Given the description of an element on the screen output the (x, y) to click on. 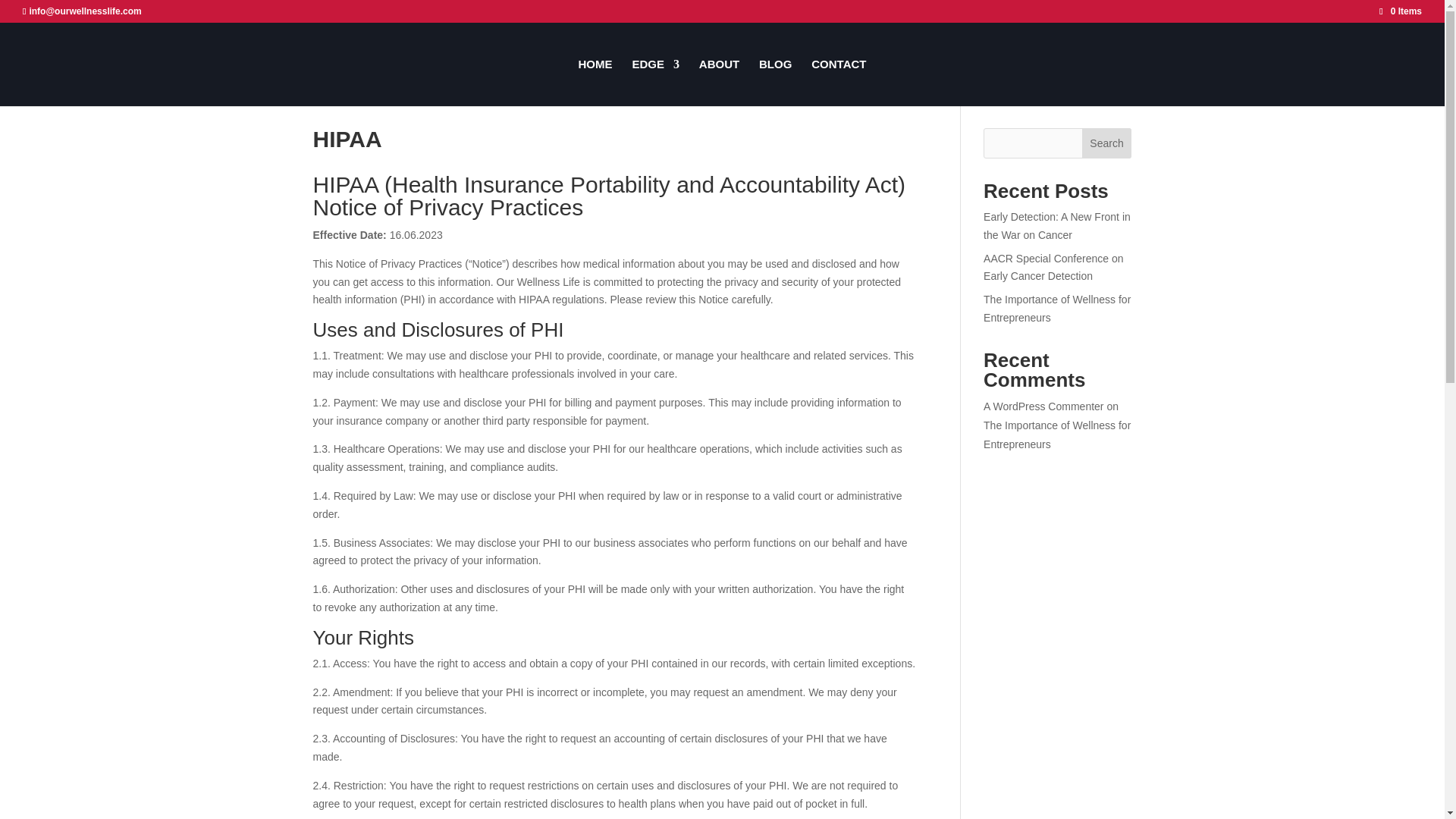
0 Items (1400, 10)
Early Detection: A New Front in the War on Cancer (1057, 225)
AACR Special Conference on Early Cancer Detection (1053, 267)
CONTACT (838, 82)
The Importance of Wellness for Entrepreneurs (1057, 308)
The Importance of Wellness for Entrepreneurs (1057, 434)
Search (1106, 142)
EDGE (655, 82)
A WordPress Commenter (1043, 406)
